Given the description of an element on the screen output the (x, y) to click on. 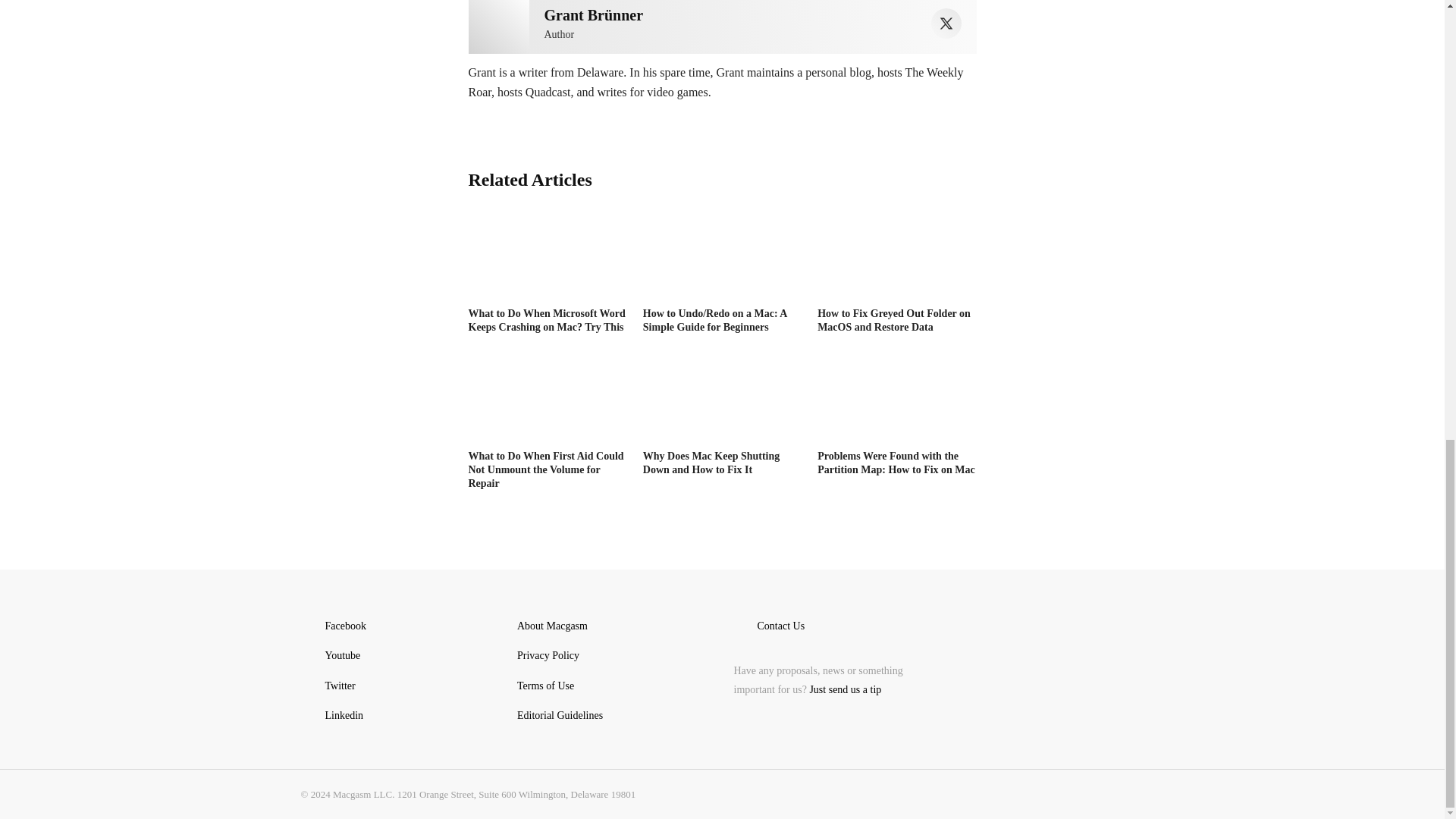
Twitter (945, 23)
How to Fix Greyed Out Folder on MacOS and Restore Data (893, 319)
